Given the description of an element on the screen output the (x, y) to click on. 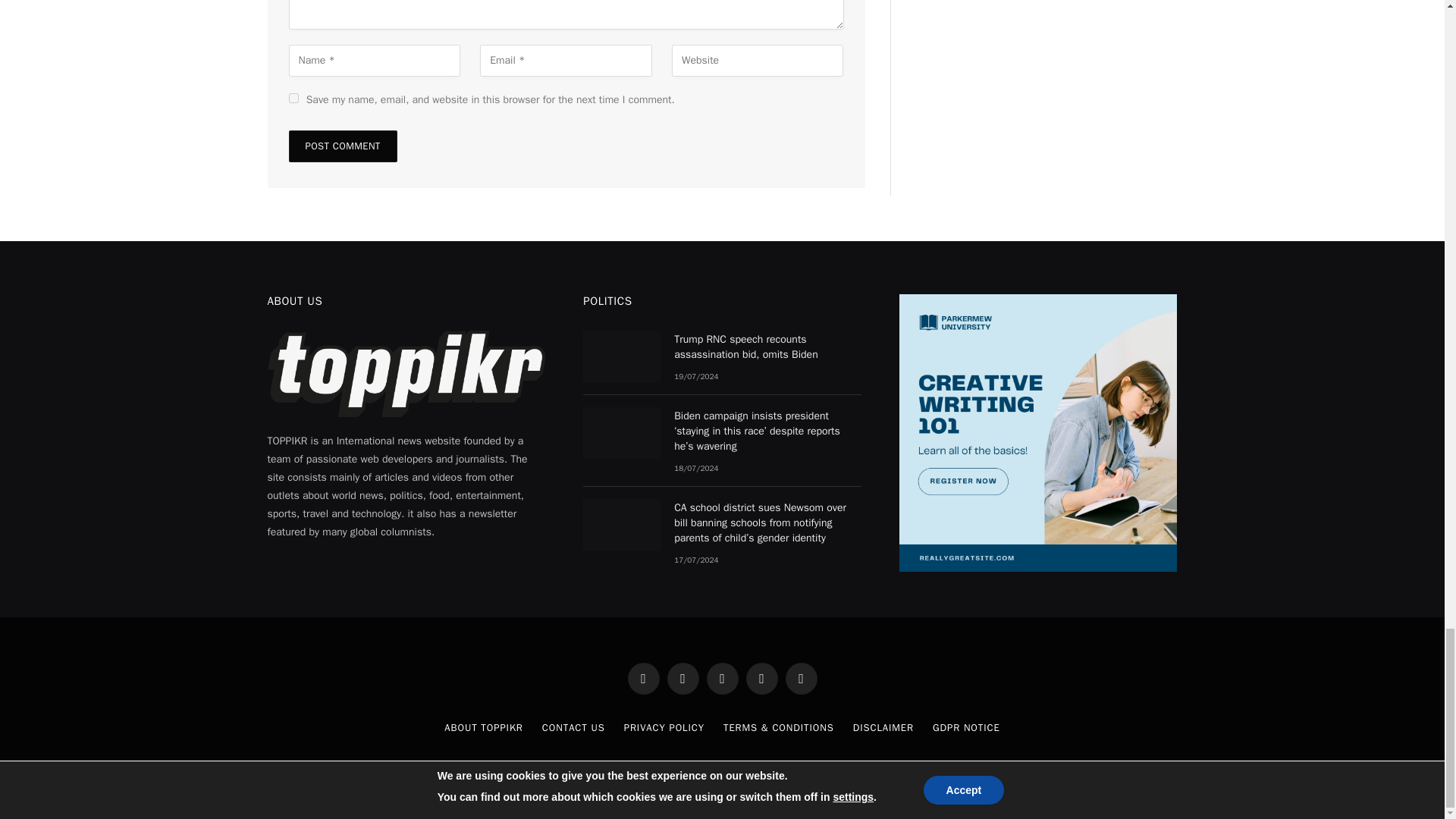
yes (293, 98)
Post Comment (342, 146)
